Given the description of an element on the screen output the (x, y) to click on. 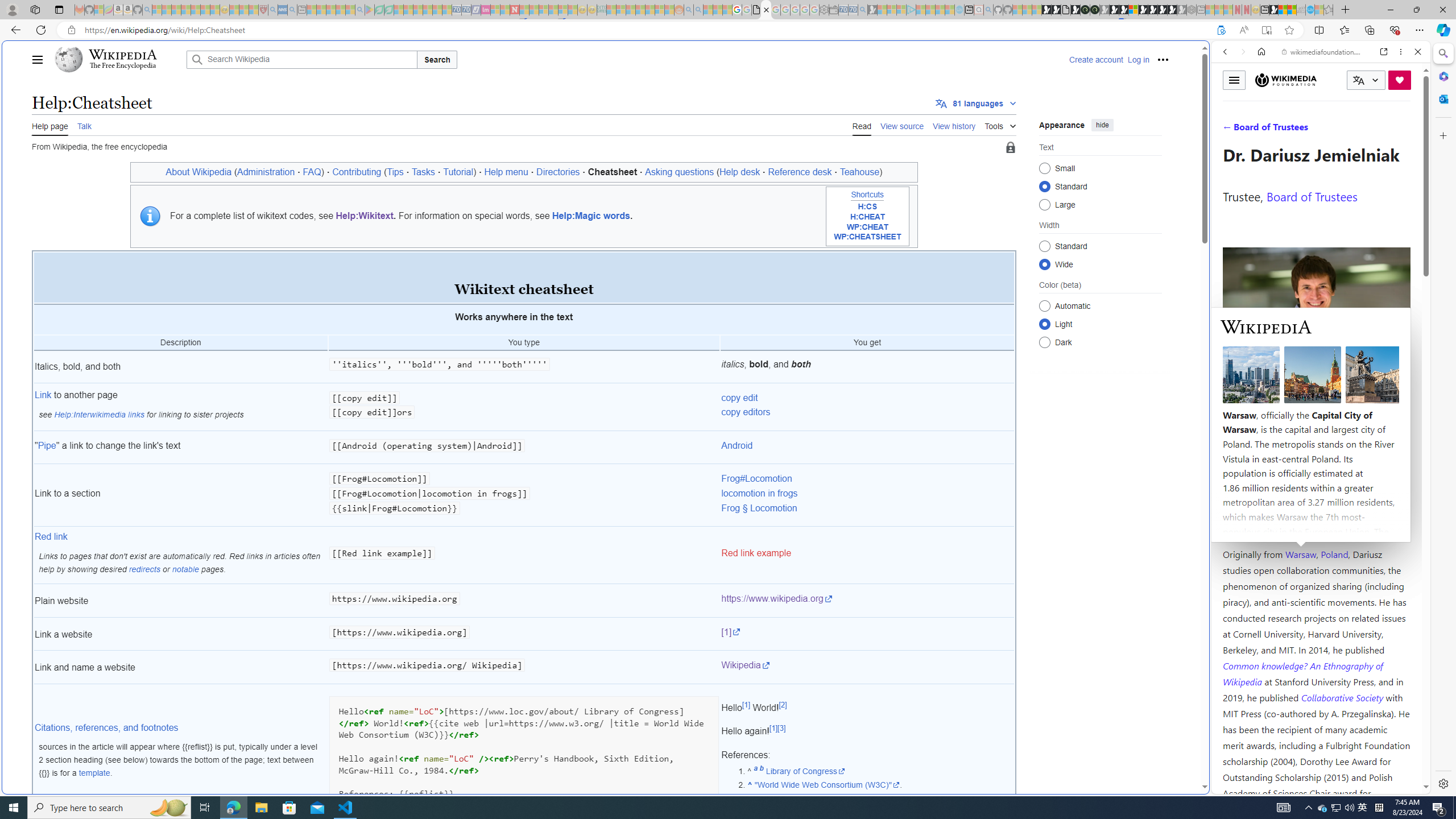
Shortcuts (866, 194)
Jump up (749, 785)
template (94, 773)
Dark (1044, 341)
Talk (84, 124)
google_privacy_policy_zh-CN.pdf (1118, 683)
